Given the description of an element on the screen output the (x, y) to click on. 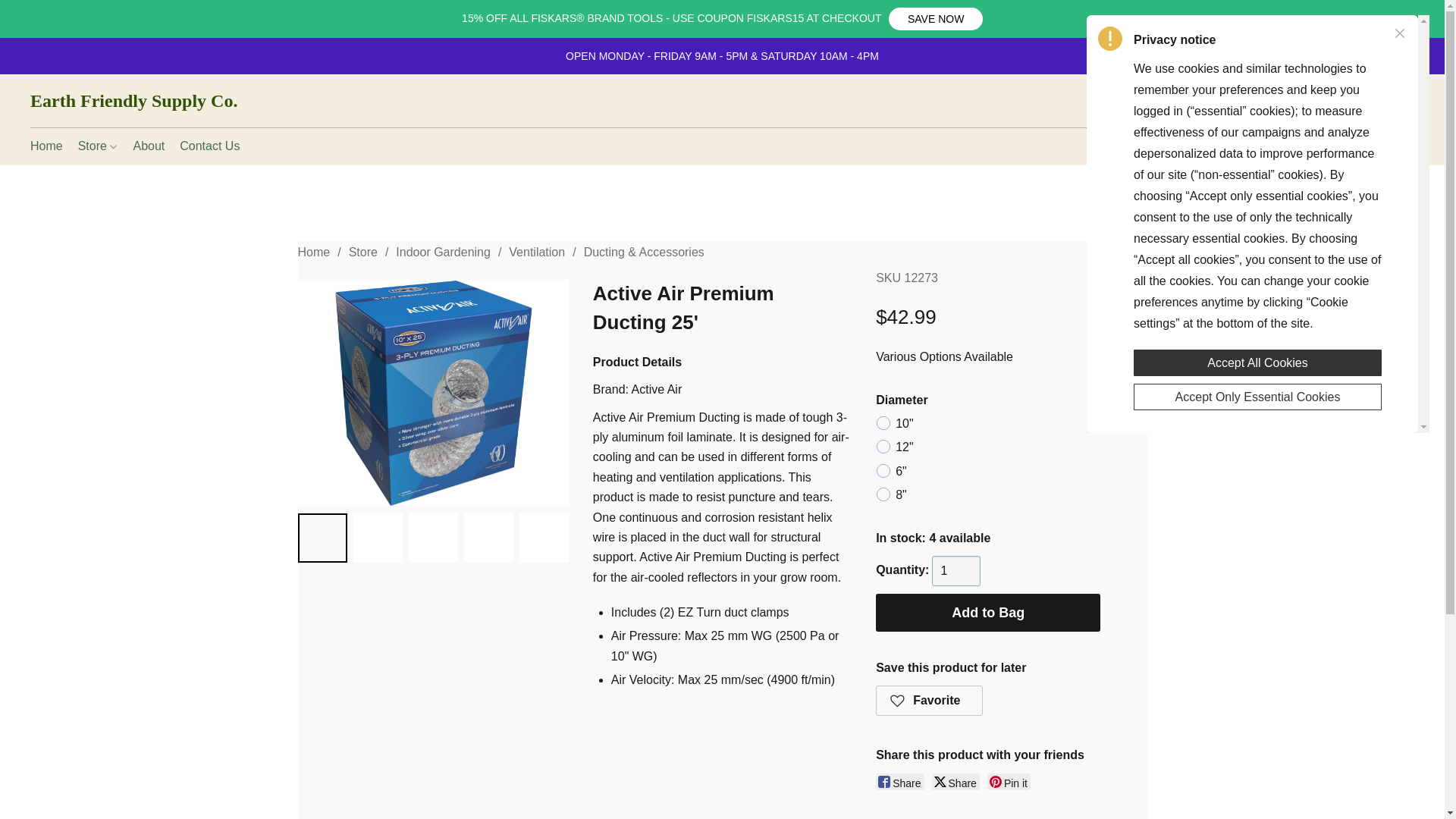
Home (49, 145)
Accept All Cookies (1257, 362)
Share (955, 781)
Accept Only Essential Cookies (1257, 397)
Add to Bag (988, 612)
Earth Friendly Supply Co. (133, 100)
Home (313, 251)
Favorite (929, 700)
Ventilation (536, 251)
Contact Us (205, 145)
Indoor Gardening (443, 251)
Pin it (1008, 781)
Store (363, 251)
Go to your shopping cart (1404, 100)
Share (899, 781)
